Given the description of an element on the screen output the (x, y) to click on. 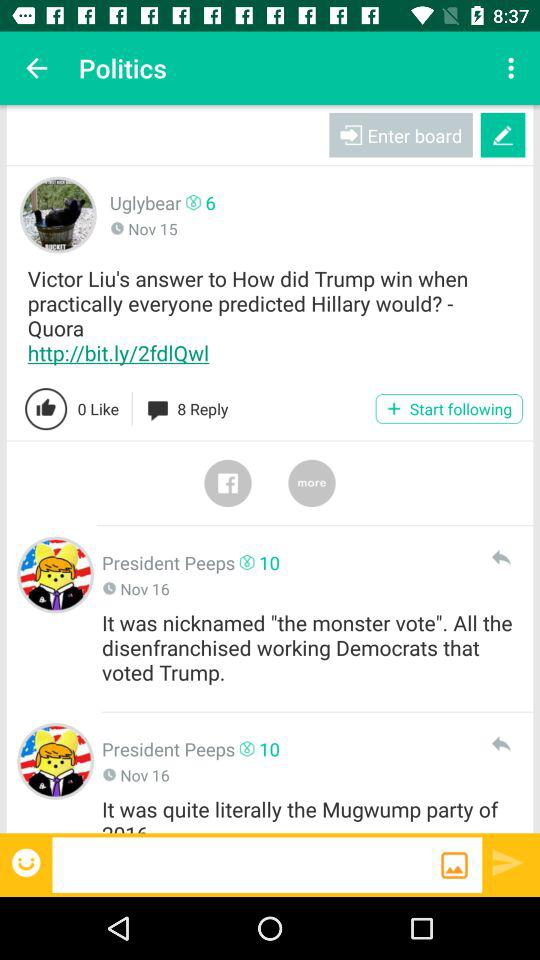
sends a message (508, 862)
